Given the description of an element on the screen output the (x, y) to click on. 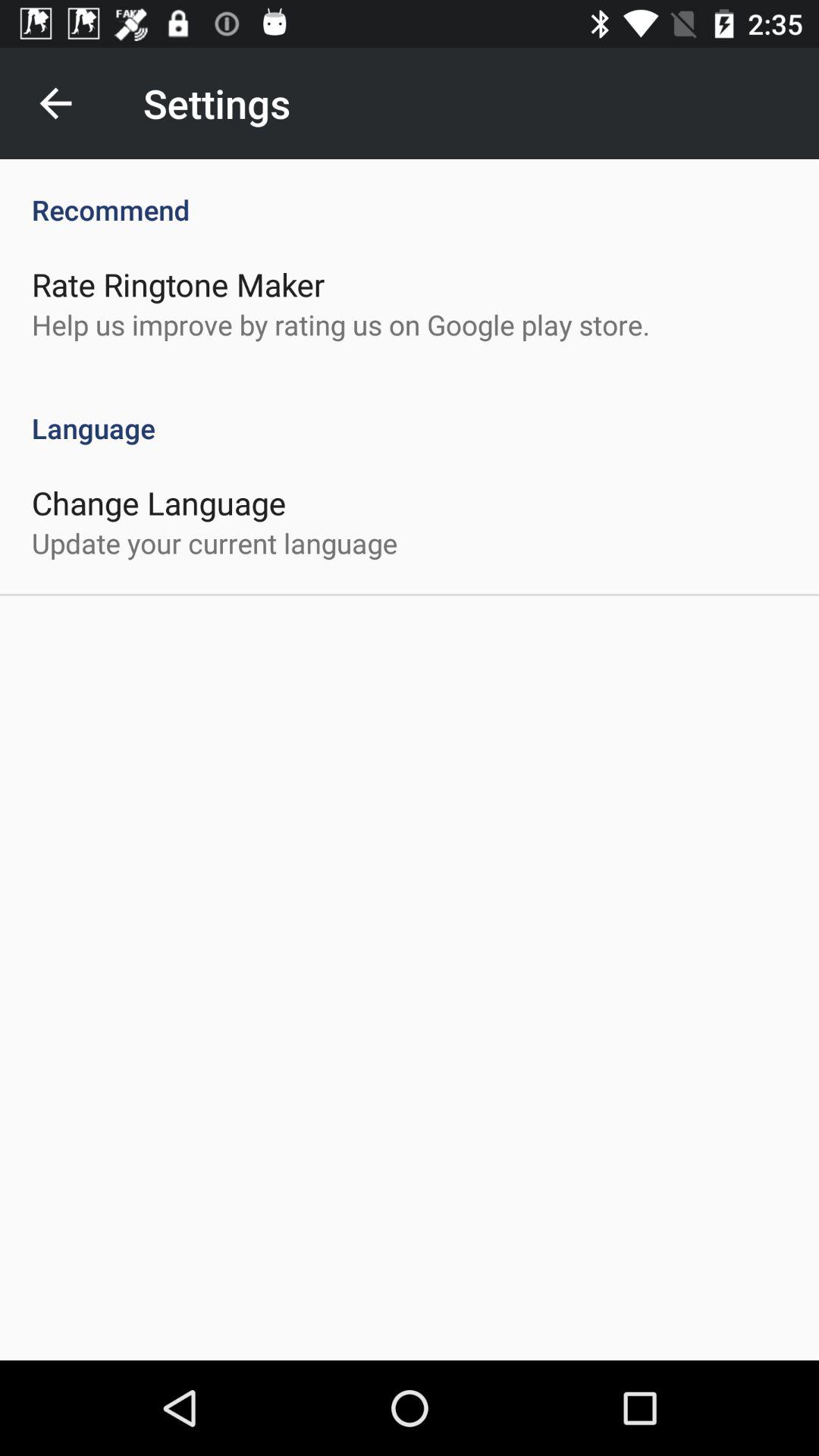
turn on the help us improve item (340, 324)
